Given the description of an element on the screen output the (x, y) to click on. 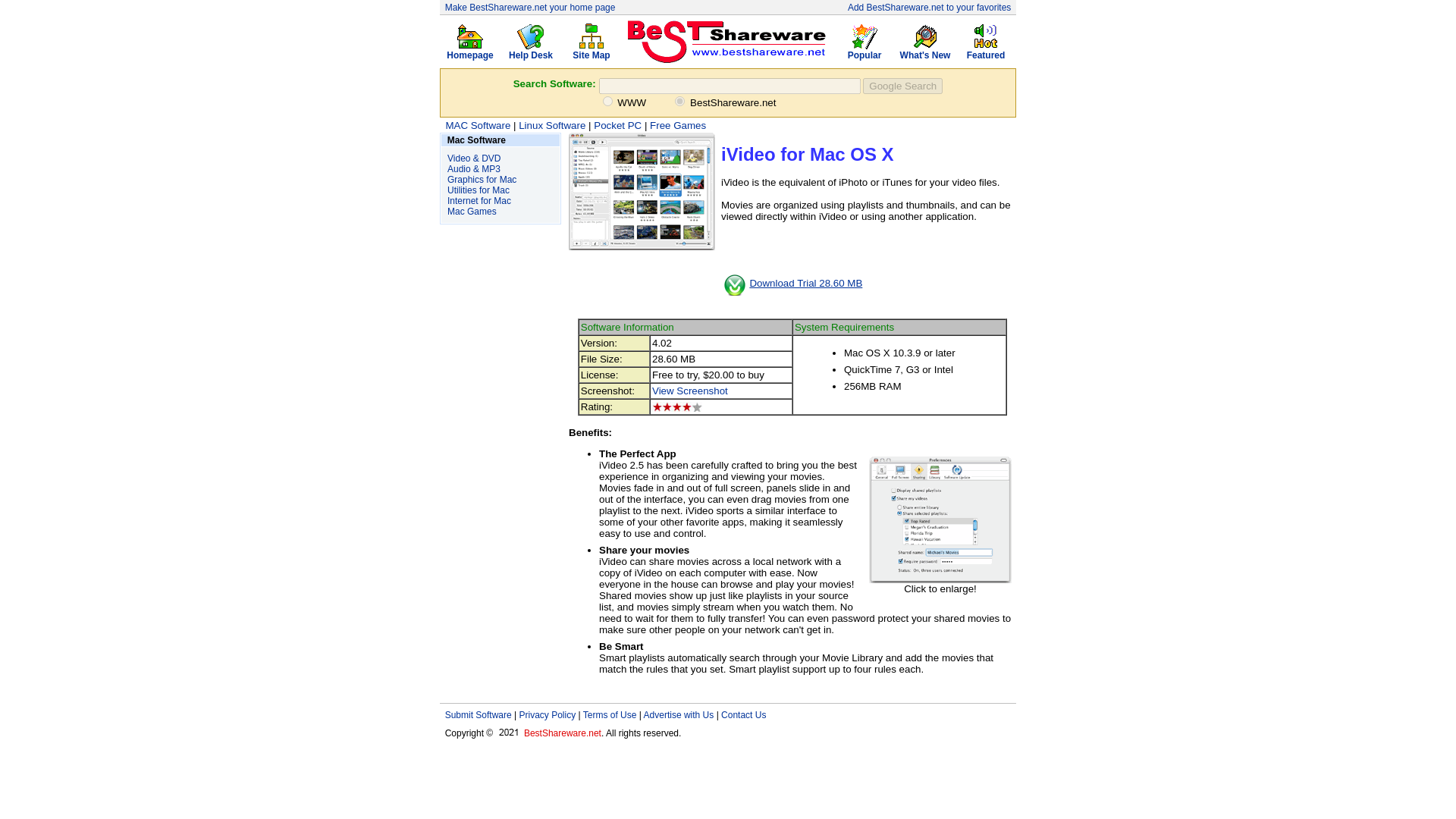
Site Map (591, 50)
www.bestshareware.net (679, 100)
BestShareware.net (562, 733)
What's New (924, 50)
Internet for Mac (478, 200)
Popular (864, 50)
Utilities for Mac (477, 190)
Add BestShareware.net to your favorites (928, 6)
Make BestShareware.net your home page (530, 6)
Bookmark this page now! (928, 6)
